Given the description of an element on the screen output the (x, y) to click on. 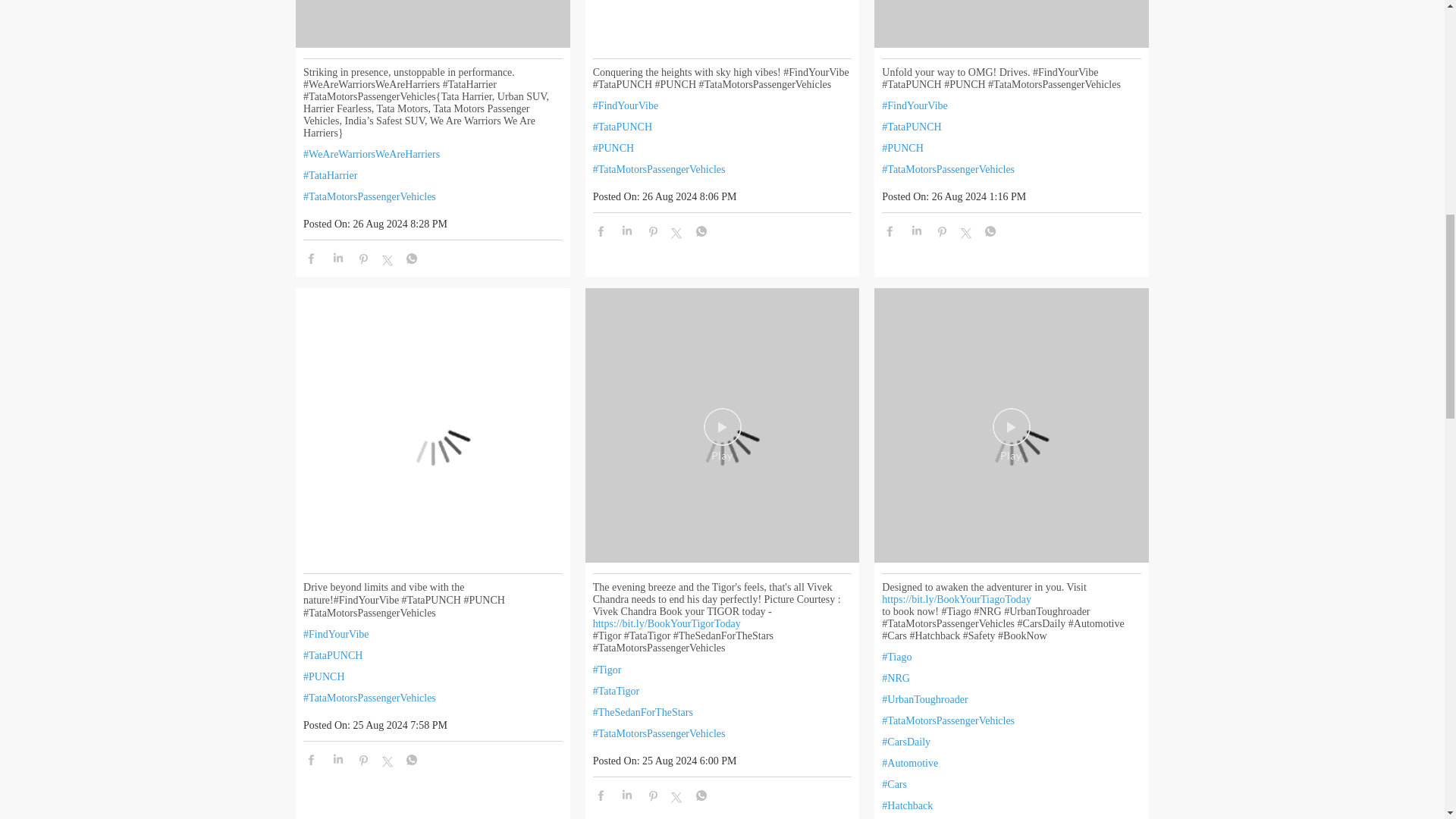
Striking in presence, unstoppable in performance (432, 29)
Striking in presence, unstoppable in performance (432, 27)
